Given the description of an element on the screen output the (x, y) to click on. 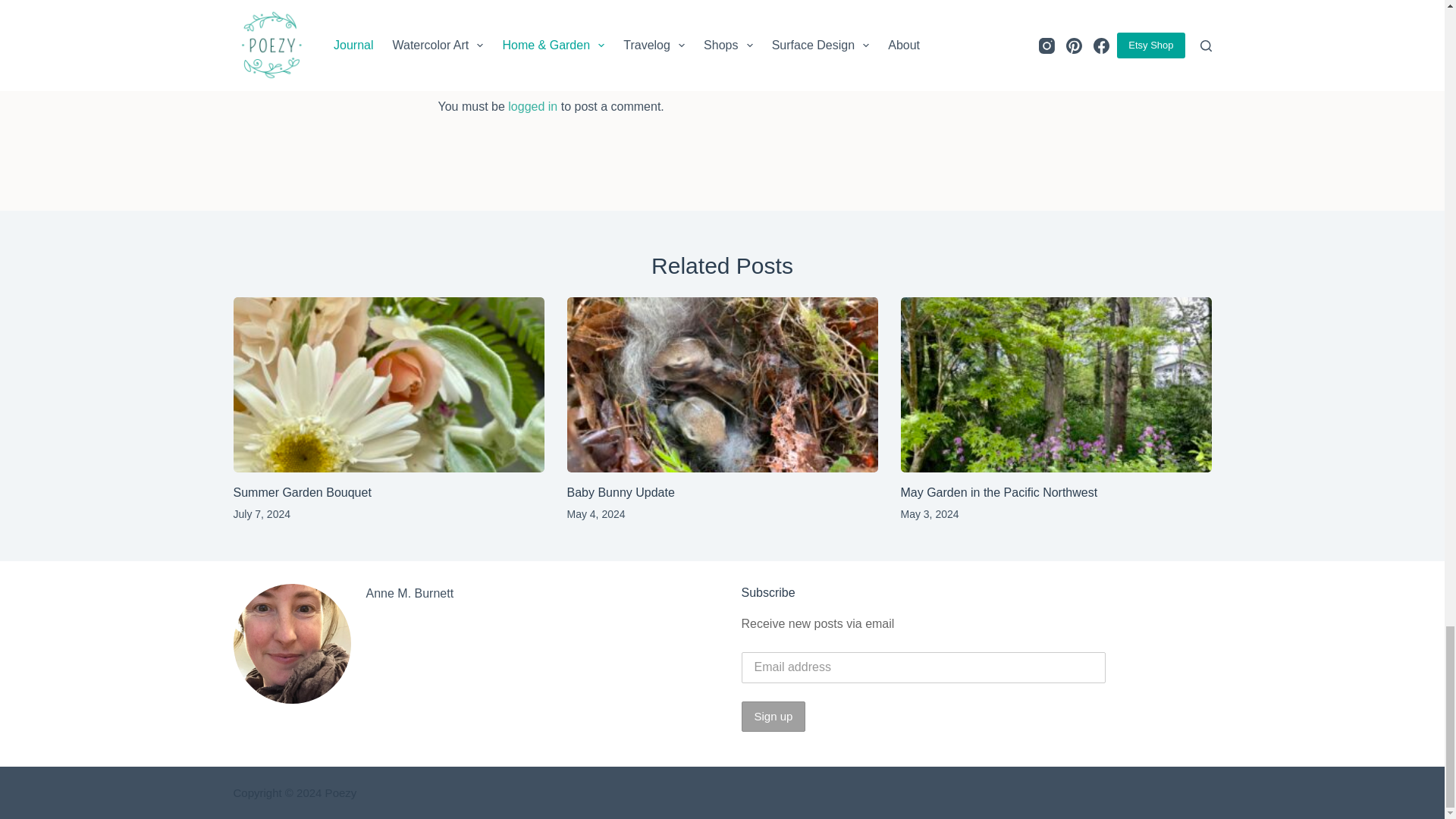
Sign up (773, 716)
